Given the description of an element on the screen output the (x, y) to click on. 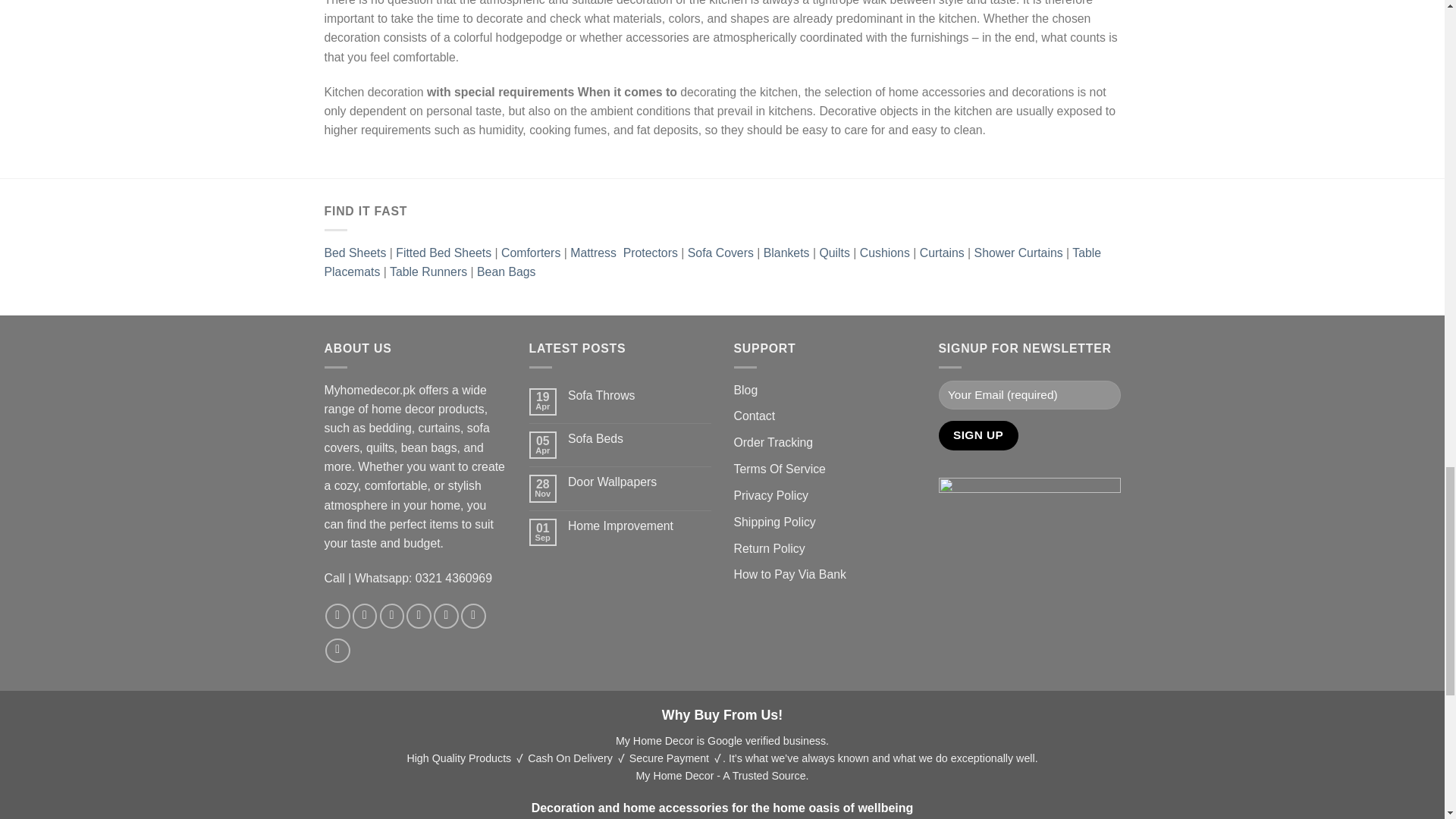
Follow on Instagram (364, 615)
Follow on Facebook (337, 615)
Follow on Twitter (392, 615)
Sign Up (978, 435)
Call us (445, 615)
Follow on Pinterest (473, 615)
Send us an email (418, 615)
